Given the description of an element on the screen output the (x, y) to click on. 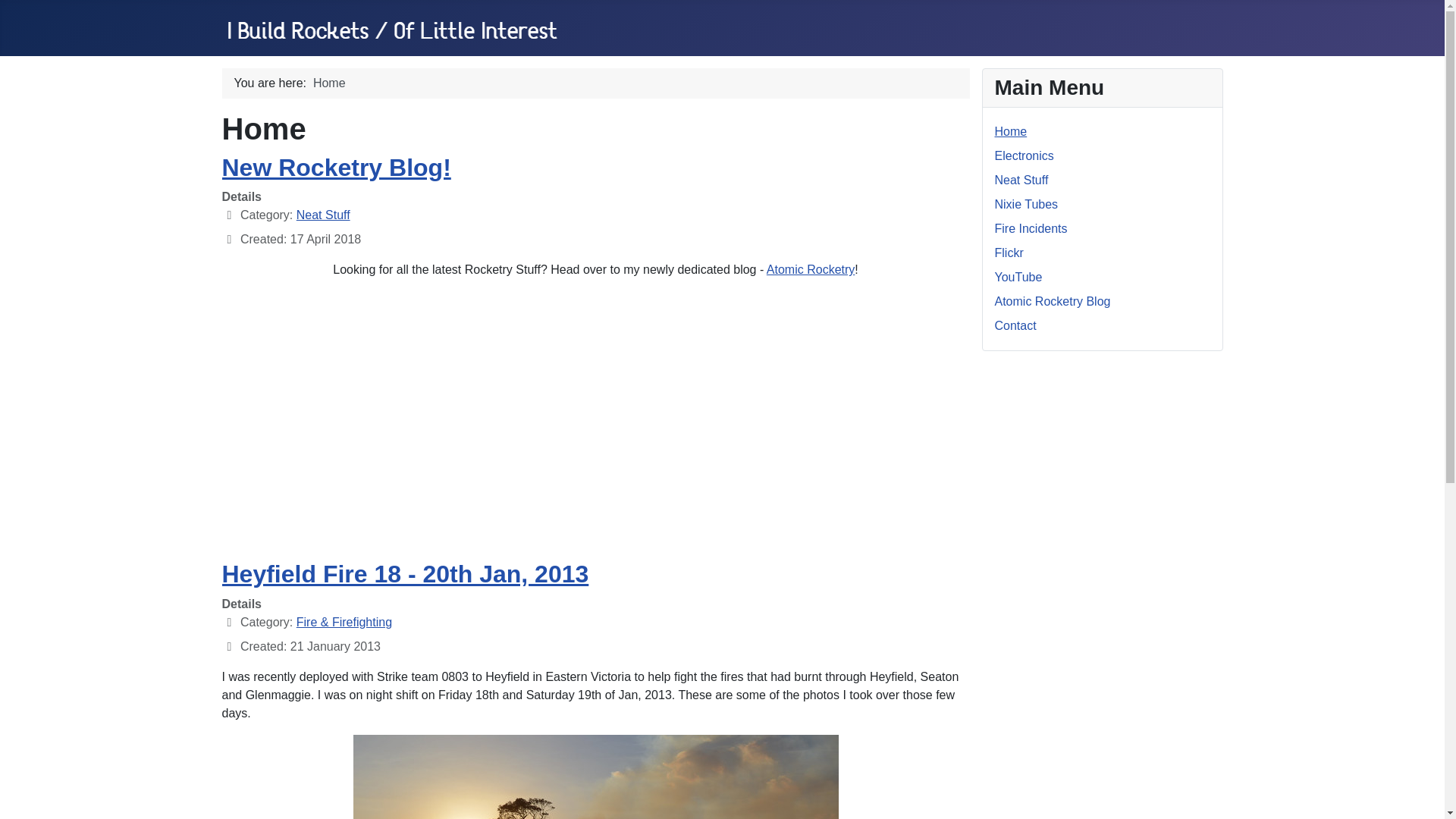
Home (1010, 131)
Heyfield Fire 18 - 20th Jan, 2013 (404, 574)
Flickr (1008, 252)
Atomic Rocketry (810, 269)
New Rocketry Blog! (335, 166)
Neat Stuff (323, 214)
YouTube (1018, 277)
Nixie Tubes (1026, 204)
Electronics (1024, 155)
Atomic Rocketry Blog (1052, 300)
